Given the description of an element on the screen output the (x, y) to click on. 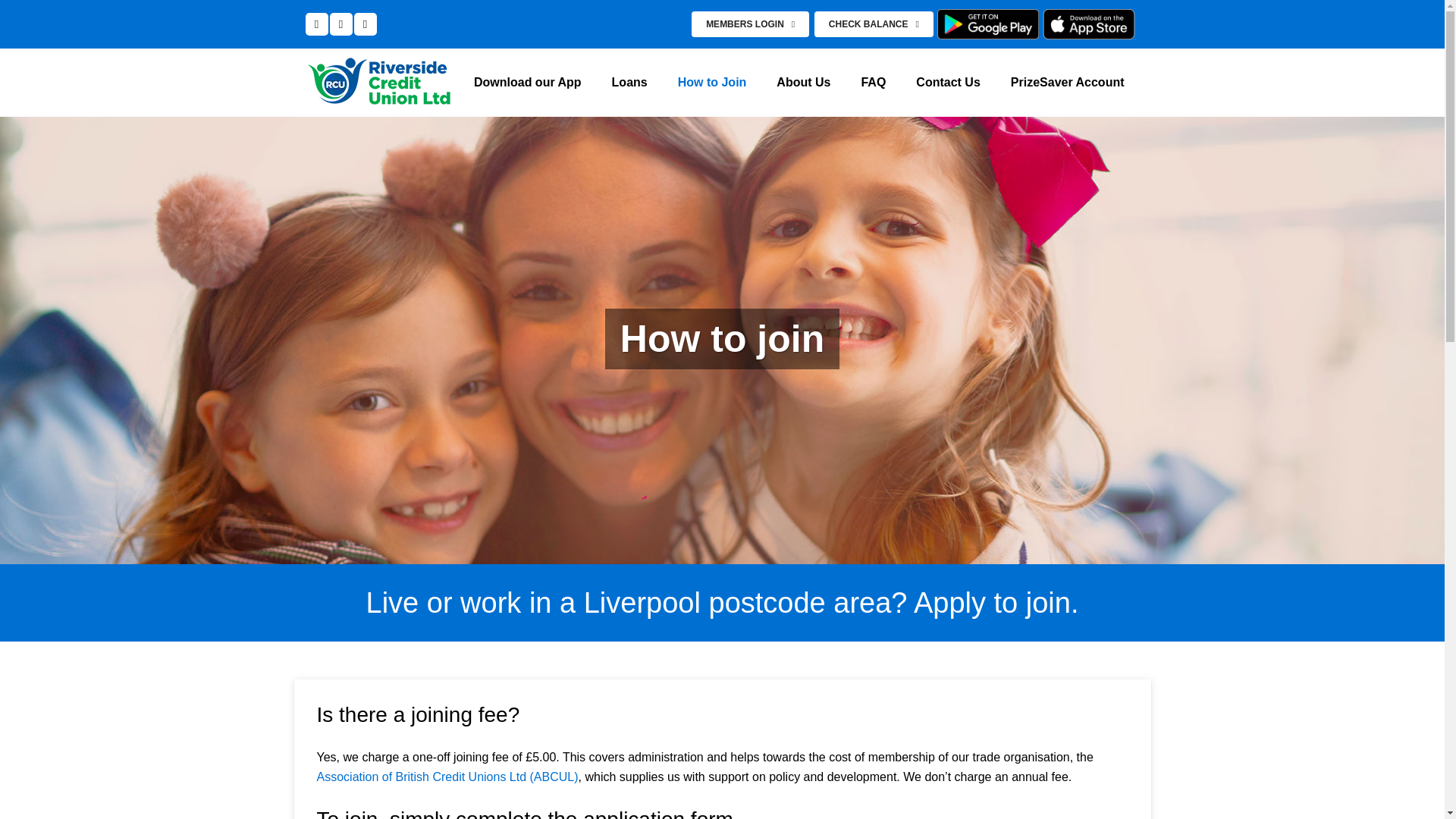
Download our App (527, 82)
About Us (803, 82)
MEMBERS LOGIN (750, 23)
Contact Us (947, 82)
Loans (629, 82)
How to Join (711, 82)
CHECK BALANCE (873, 23)
PrizeSaver Account (1067, 82)
